Given the description of an element on the screen output the (x, y) to click on. 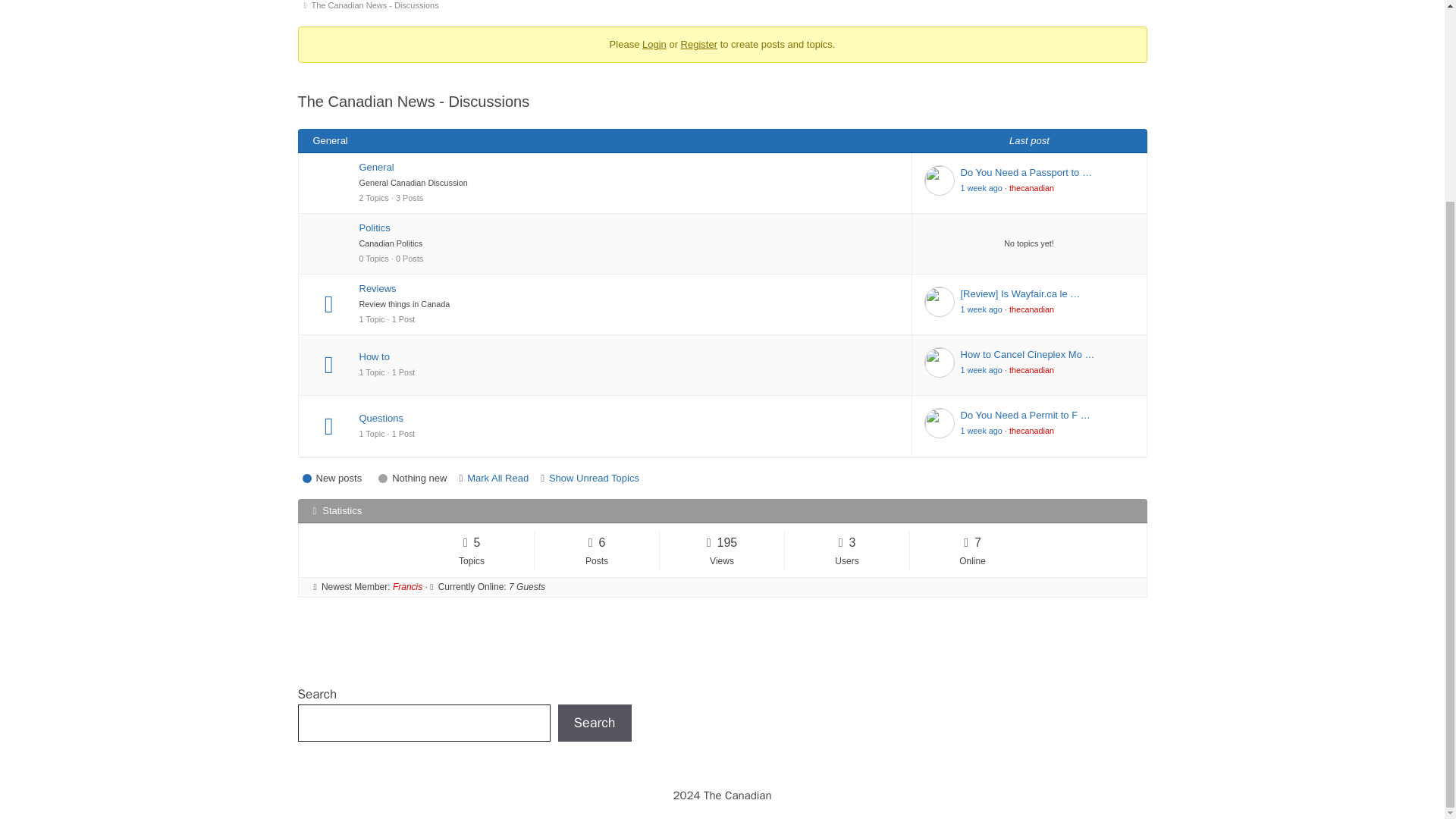
Reviews (629, 288)
The Canadian News - Discussions (377, 7)
How to (629, 356)
The Canadian News - Discussions (377, 7)
General (629, 167)
1 week ago (980, 308)
Politics (629, 227)
Login (654, 43)
1 week ago (980, 187)
thecanadian (1031, 308)
Register (699, 43)
thecanadian (1031, 187)
